Given the description of an element on the screen output the (x, y) to click on. 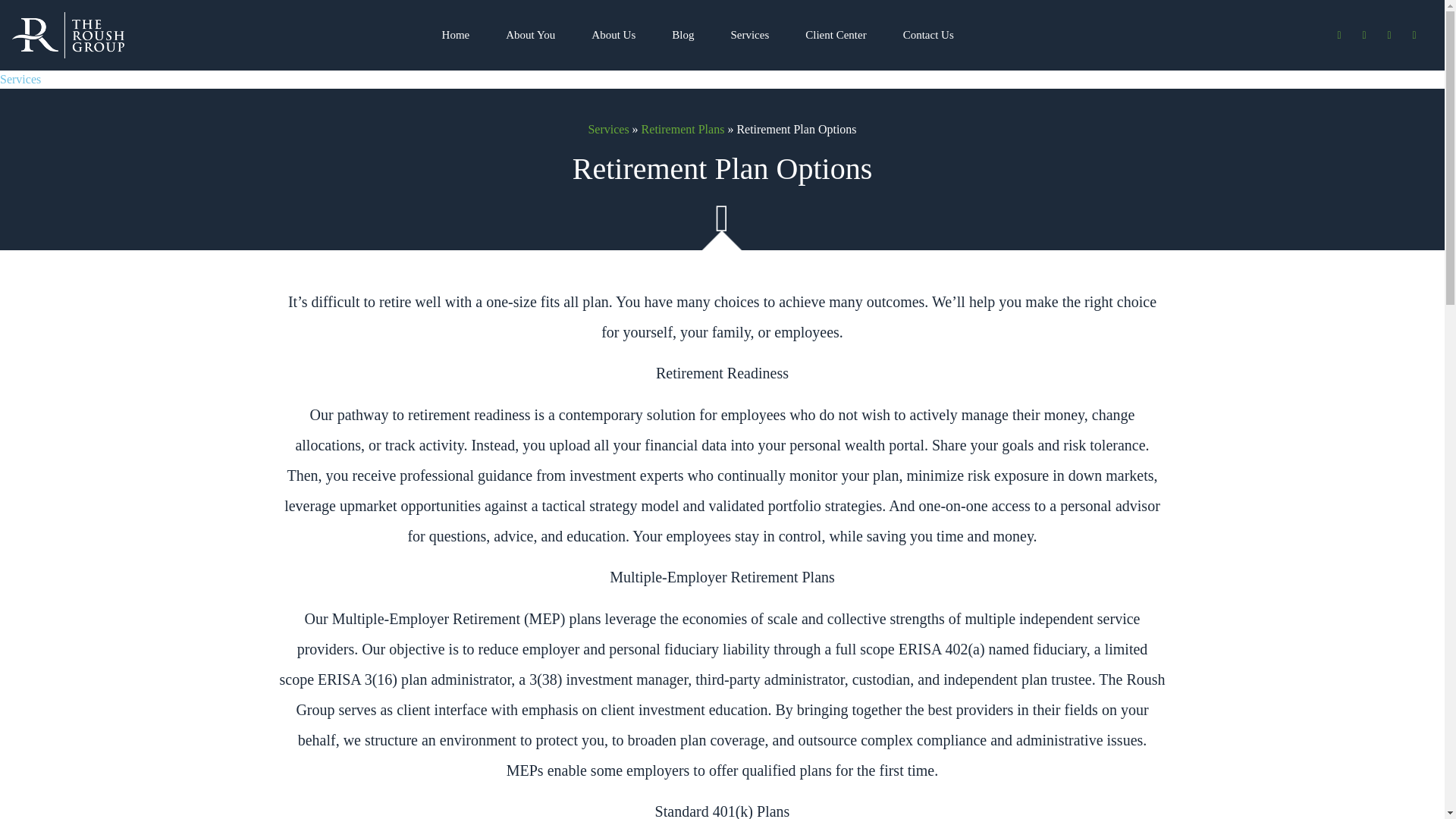
Blog (682, 34)
Services (749, 34)
Contact Us (928, 34)
Home (455, 34)
About Us (613, 34)
Client Center (835, 34)
Retirement Plans (683, 128)
About You (530, 34)
Services (608, 128)
